Given the description of an element on the screen output the (x, y) to click on. 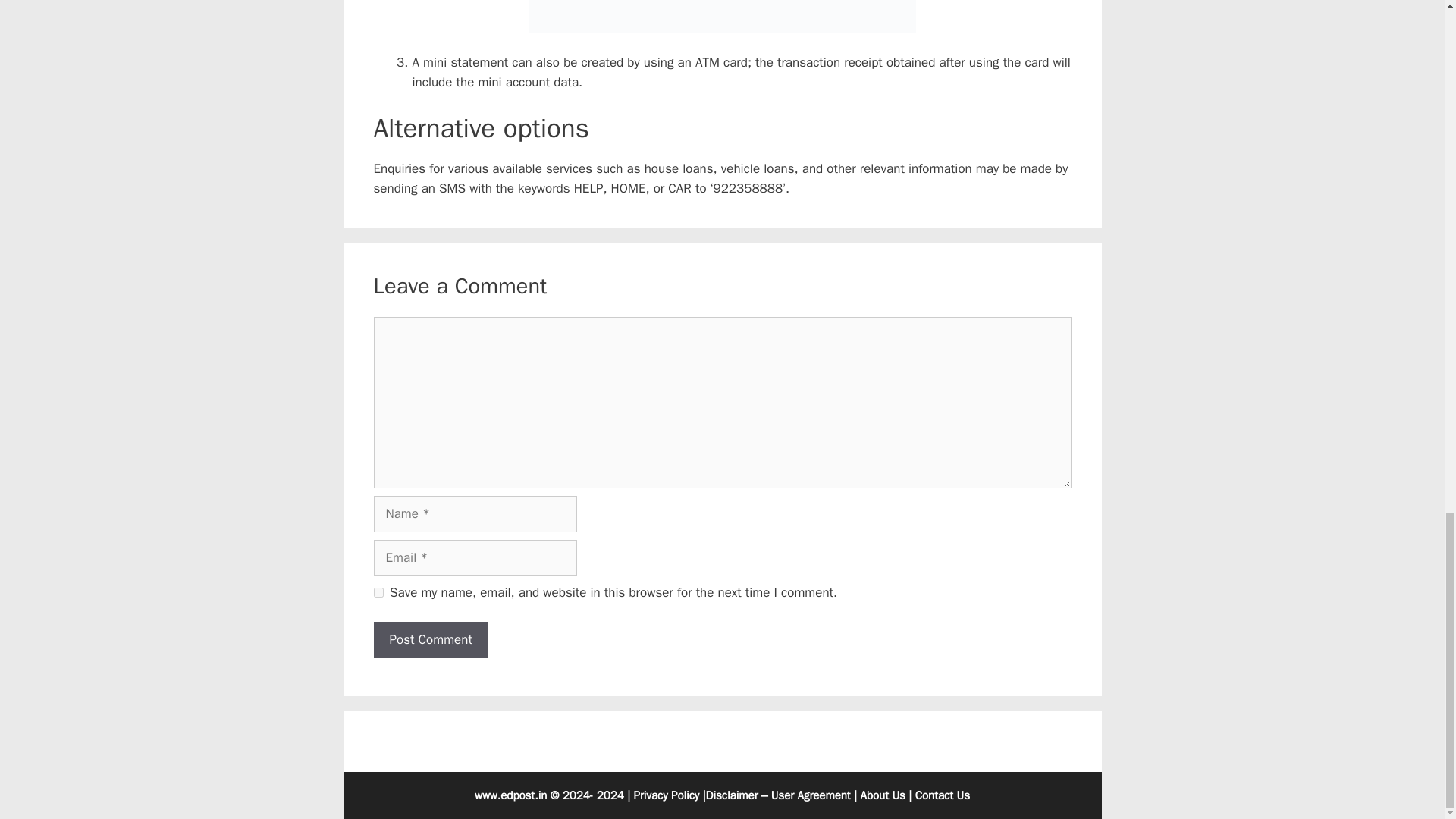
Contact Us (942, 795)
Privacy Policy (666, 795)
yes (377, 592)
Post Comment (429, 639)
Post Comment (429, 639)
About Us (882, 795)
